Given the description of an element on the screen output the (x, y) to click on. 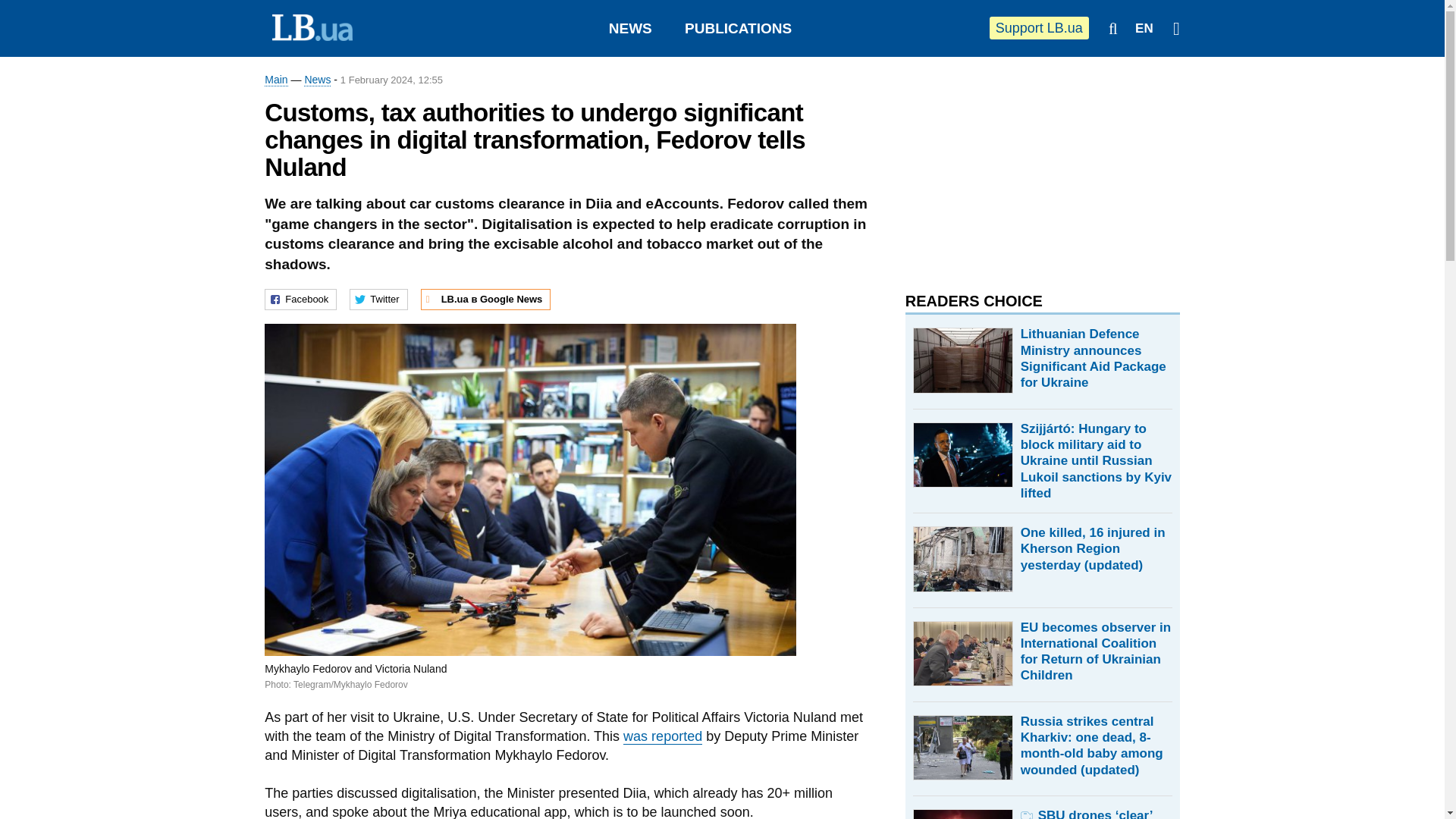
Support LB.ua (1039, 27)
Advertisement (1018, 166)
EN (1144, 28)
News (317, 79)
was reported (662, 736)
PUBLICATIONS (738, 28)
NEWS (630, 28)
Main (275, 79)
